Given the description of an element on the screen output the (x, y) to click on. 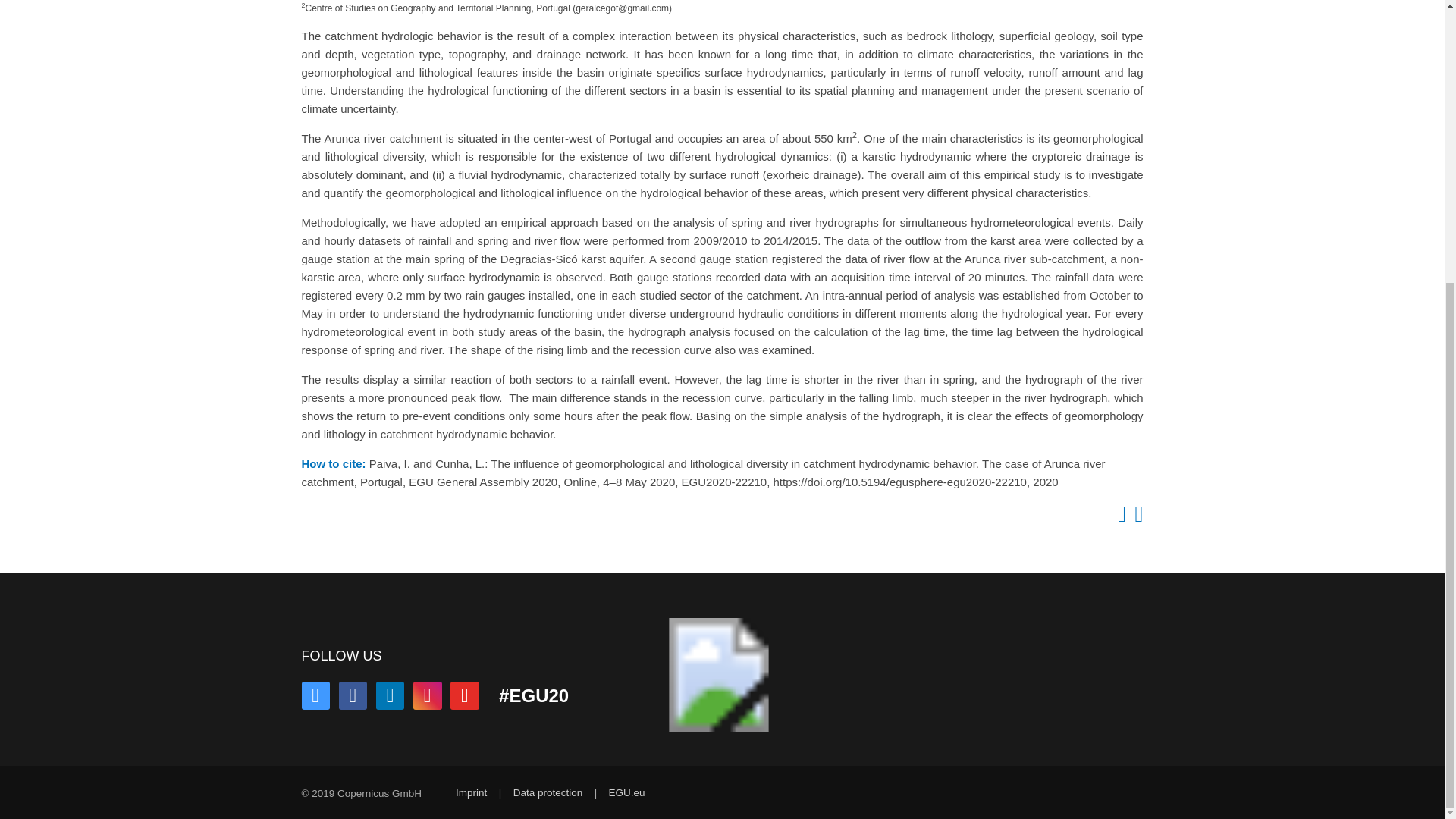
Find us on LinkedIn (389, 697)
Copy to clipboard (1118, 517)
Follow us on Twitter (315, 697)
Find us on Instagram (427, 697)
Find us on YouTube (464, 697)
Open QR code linking to abstract URL (1135, 517)
Follow us on Facebook (353, 697)
